Given the description of an element on the screen output the (x, y) to click on. 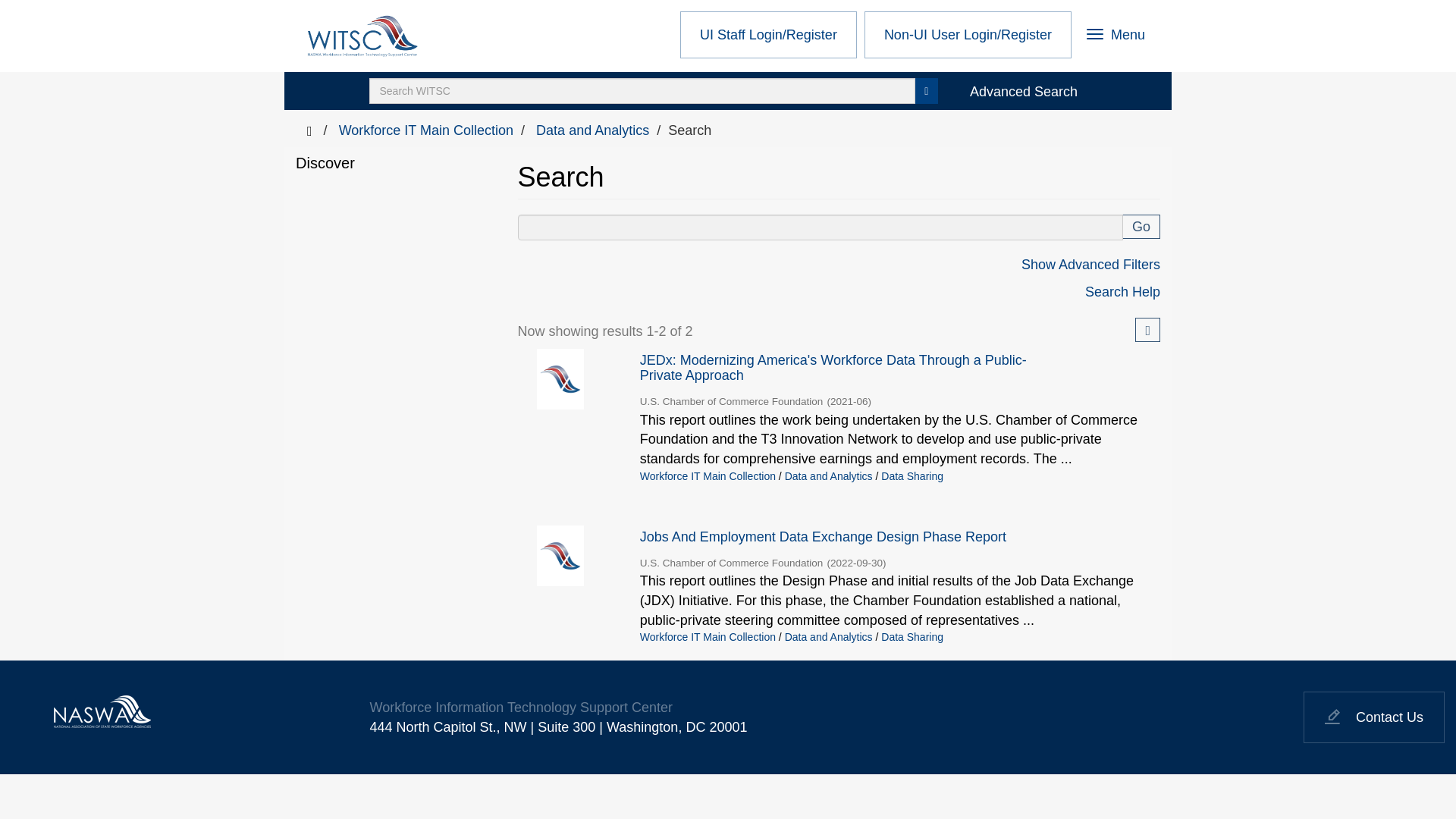
form (1141, 226)
Data and Analytics (1115, 35)
search (592, 130)
Go (642, 90)
form (925, 90)
Workforce IT Main Collection (819, 227)
Advanced Search (426, 130)
